Given the description of an element on the screen output the (x, y) to click on. 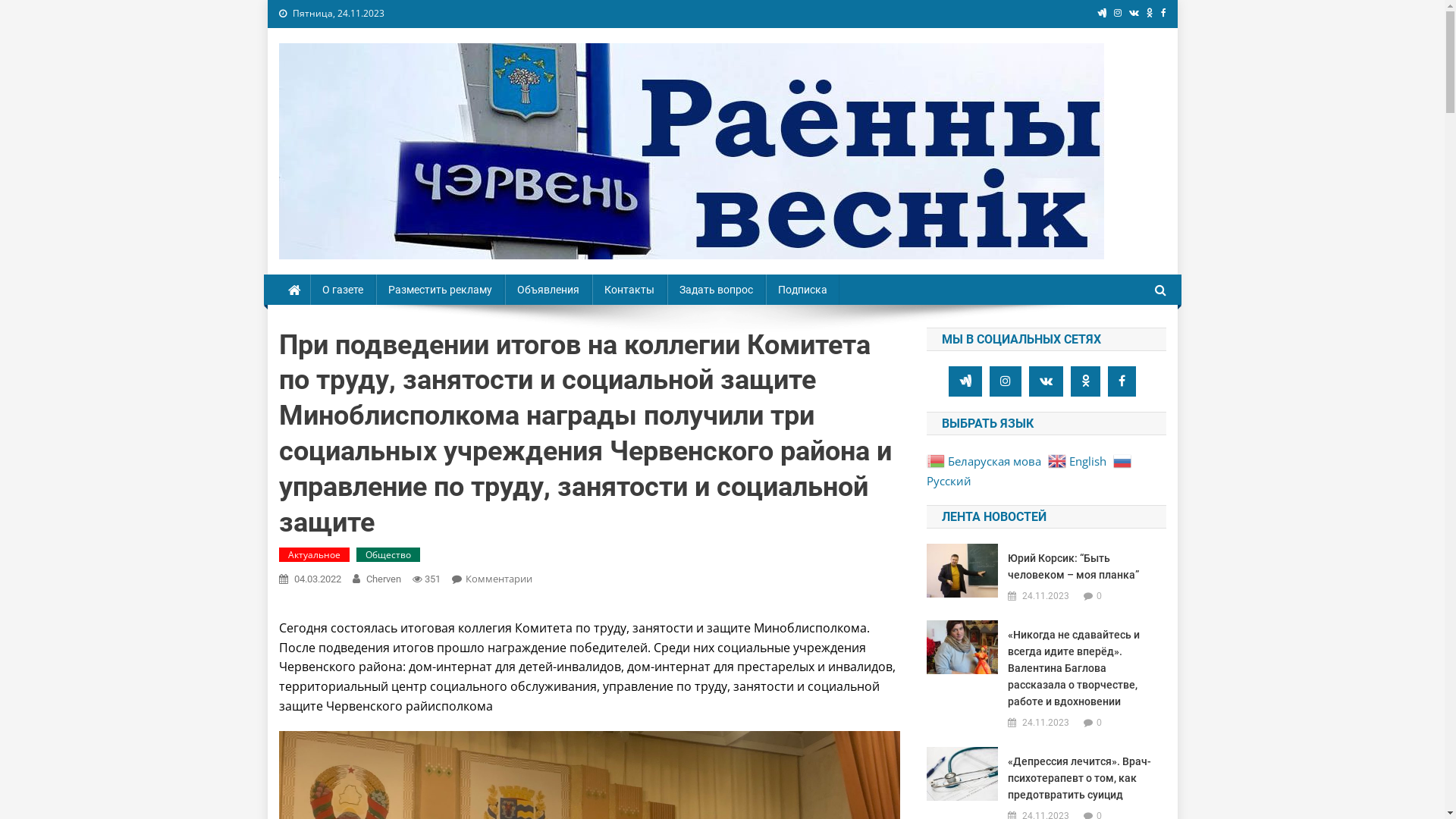
0 Element type: text (1098, 595)
24.11.2023 Element type: text (1045, 722)
24.11.2023 Element type: text (1045, 596)
04.03.2022 Element type: text (317, 578)
0 Element type: text (1098, 722)
English Element type: text (1079, 459)
